Given the description of an element on the screen output the (x, y) to click on. 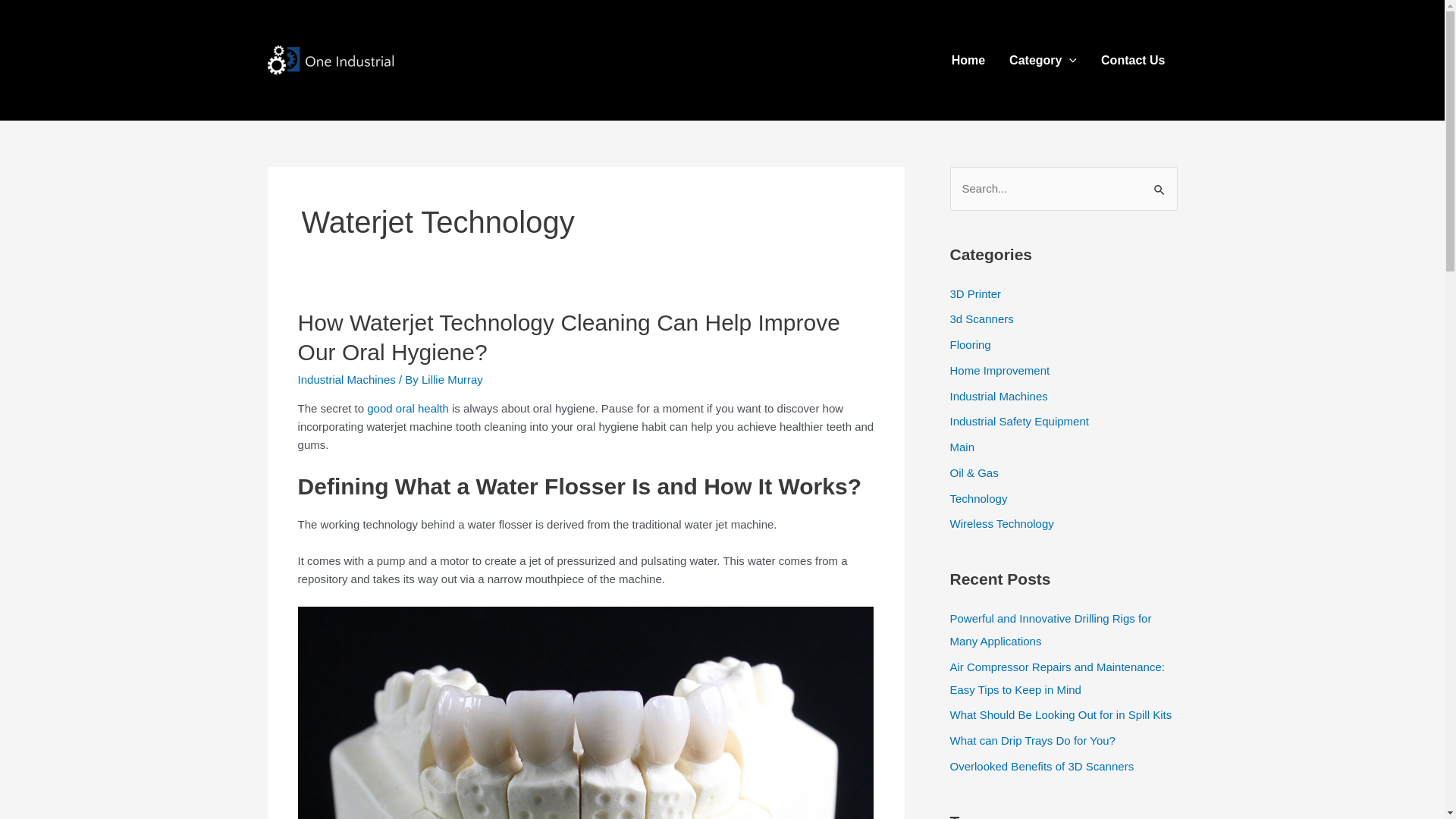
Flooring Element type: text (969, 344)
Industrial Safety Equipment Element type: text (1018, 420)
Oil & Gas Element type: text (973, 472)
Home Element type: text (968, 59)
3d Scanners Element type: text (981, 318)
good oral health Element type: text (407, 407)
What Should Be Looking Out for in Spill Kits Element type: text (1060, 714)
Search Element type: text (1160, 181)
3D Printer Element type: text (975, 292)
What can Drip Trays Do for You? Element type: text (1031, 740)
Contact Us Element type: text (1132, 59)
Powerful and Innovative Drilling Rigs for Many Applications Element type: text (1050, 629)
Wireless Technology Element type: text (1001, 523)
Industrial Machines Element type: text (346, 379)
Lillie Murray Element type: text (452, 379)
Home Improvement Element type: text (999, 370)
Industrial Machines Element type: text (998, 395)
Main Element type: text (961, 446)
Overlooked Benefits of 3D Scanners Element type: text (1041, 765)
Category Element type: text (1042, 59)
Technology Element type: text (978, 497)
